Given the description of an element on the screen output the (x, y) to click on. 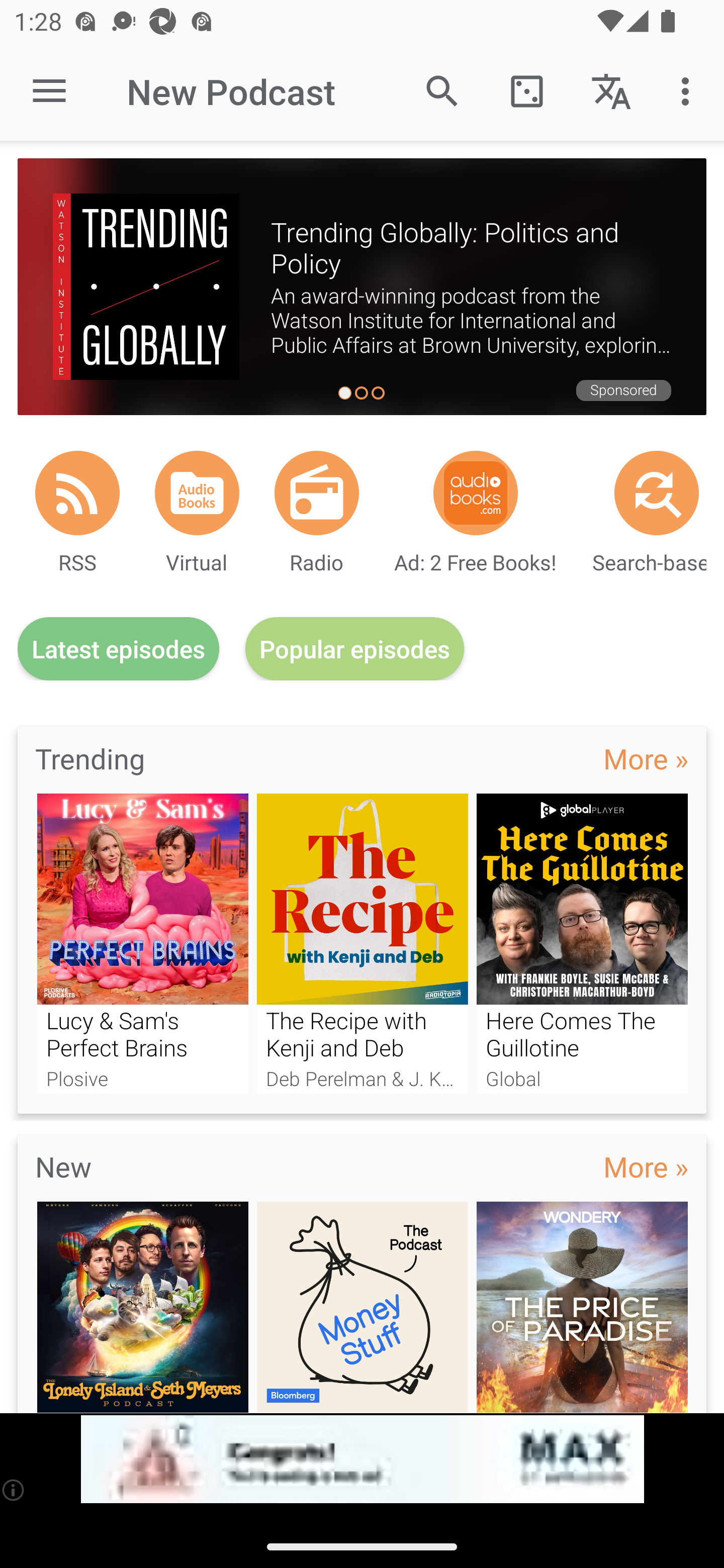
Open navigation sidebar (49, 91)
Search (442, 90)
Random pick (526, 90)
Podcast languages (611, 90)
More options (688, 90)
RSS (77, 492)
Virtual (196, 492)
Radio (316, 492)
Search-based (656, 492)
Latest episodes (118, 648)
Popular episodes (354, 648)
More » (645, 757)
Lucy & Sam's Perfect Brains Plosive (142, 942)
Here Comes The Guillotine Global (581, 942)
More » (645, 1166)
The Lonely Island and Seth Meyers Podcast (142, 1306)
Money Stuff: The Podcast (362, 1306)
The Price of Paradise (581, 1306)
app-monetization (362, 1459)
(i) (14, 1489)
